Given the description of an element on the screen output the (x, y) to click on. 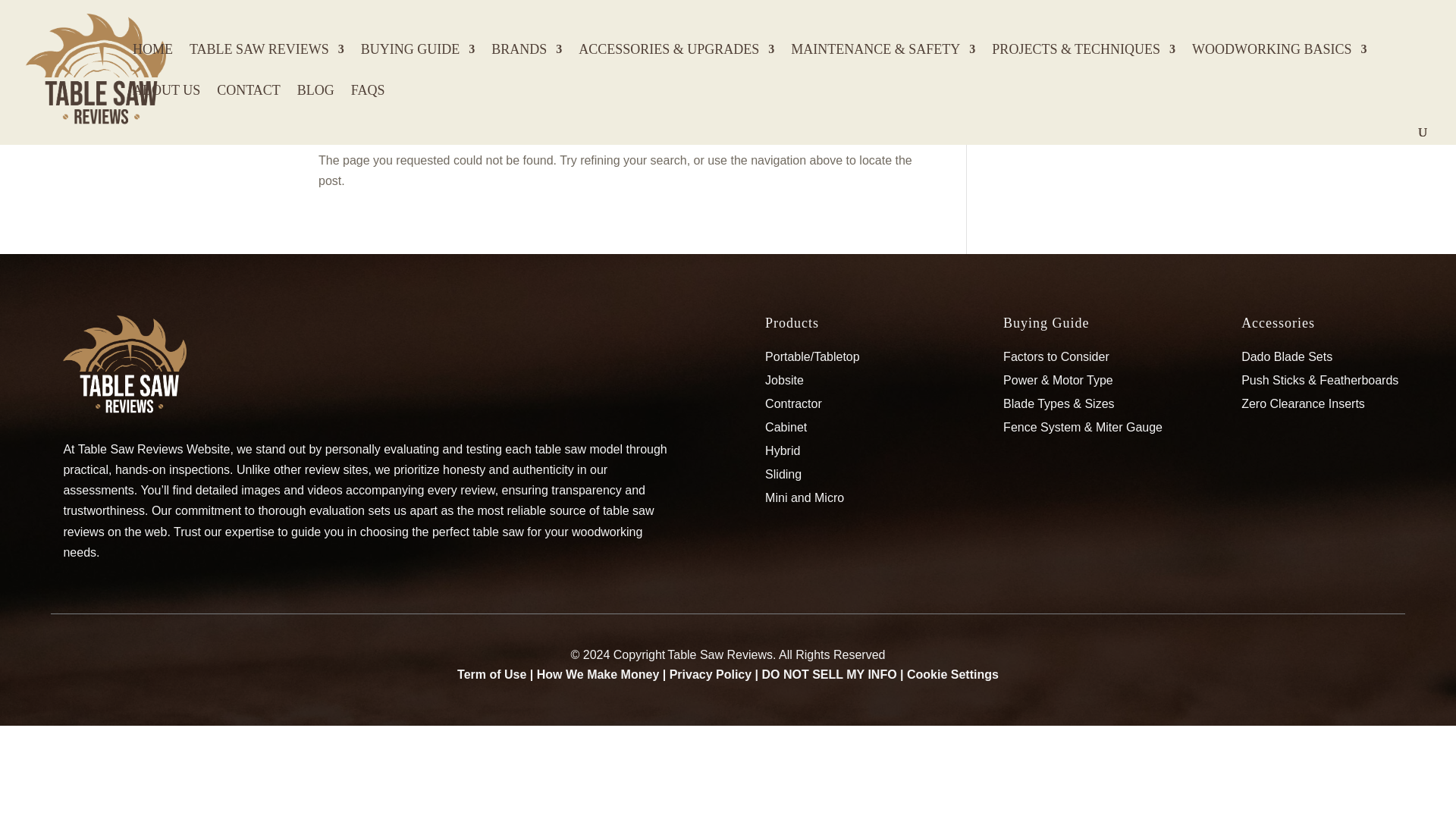
BUYING GUIDE (417, 64)
TABLE SAW REVIEWS (266, 64)
BRANDS (527, 64)
HOME (152, 64)
